Given the description of an element on the screen output the (x, y) to click on. 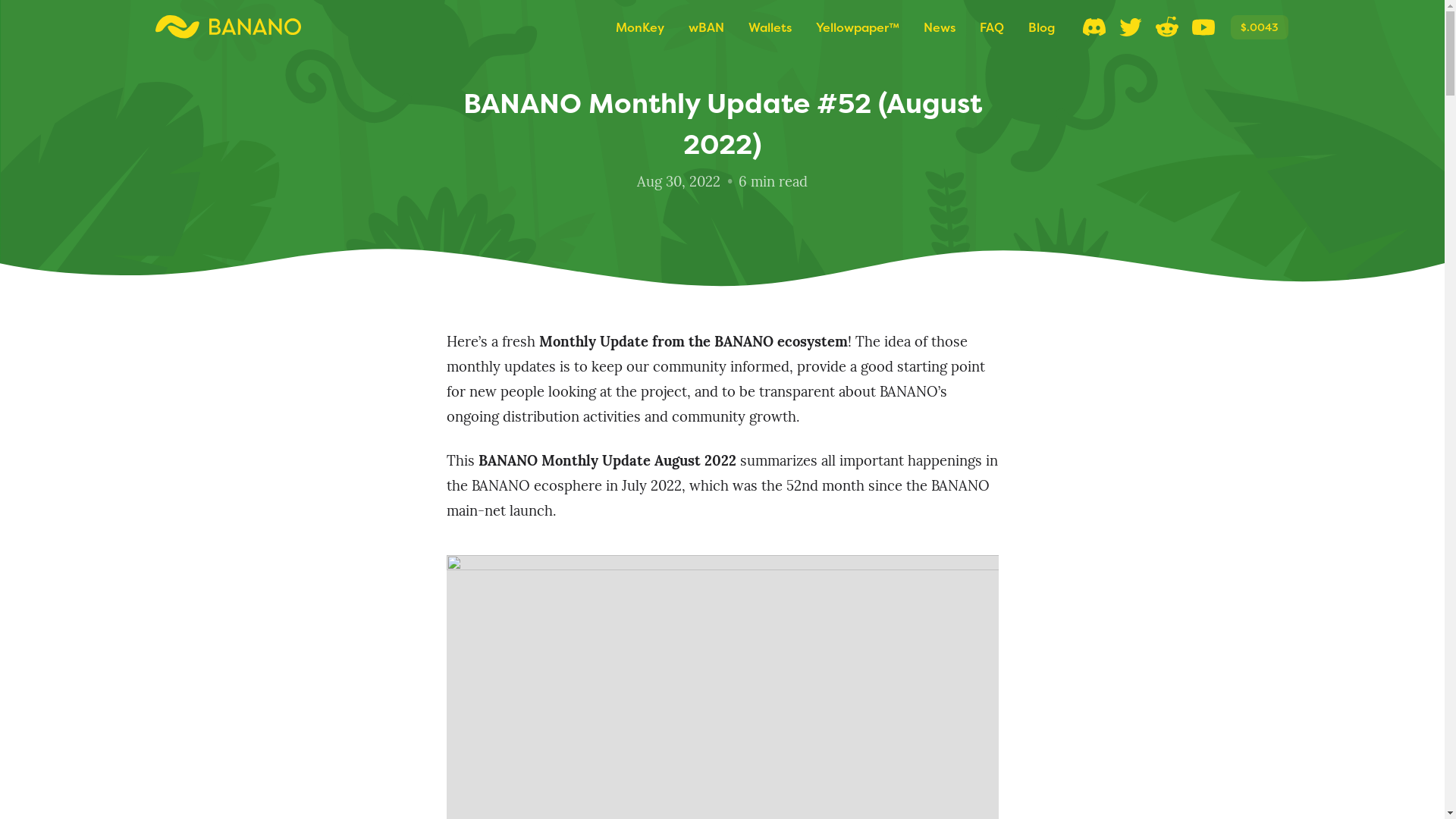
wBAN Element type: text (706, 27)
$.0043 Element type: text (1258, 27)
Wallets Element type: text (769, 27)
News Element type: text (939, 27)
FAQ Element type: text (991, 27)
Blog Element type: text (1041, 27)
MonKey Element type: text (639, 27)
